Given the description of an element on the screen output the (x, y) to click on. 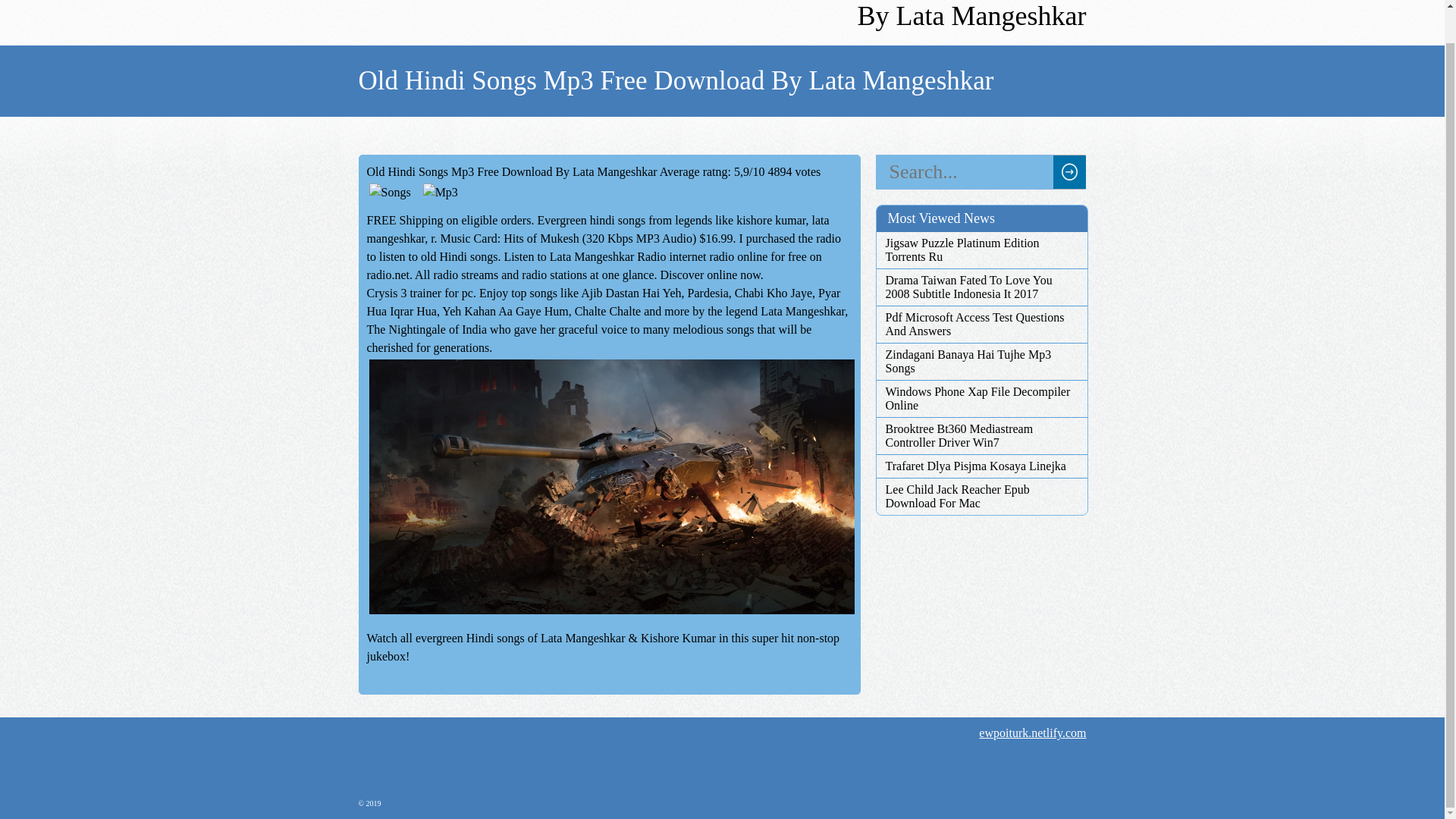
Jigsaw Puzzle Platinum Edition Torrents Ru (981, 249)
Crysis 3 trainer for pc (419, 292)
Pdf Microsoft Access Test Questions And Answers (981, 324)
Songs (389, 191)
Trafaret Dlya Pisjma Kosaya Linejka (981, 466)
Zindagani Banaya Hai Tujhe Mp3 Songs (981, 361)
Lee Child Jack Reacher Epub Download For Mac (981, 496)
Mp3 (440, 191)
ewpoiturk.netlify.com (1032, 732)
Brooktree Bt360 Mediastream Controller Driver Win7 (981, 435)
Windows Phone Xap File Decompiler Online (981, 398)
